Given the description of an element on the screen output the (x, y) to click on. 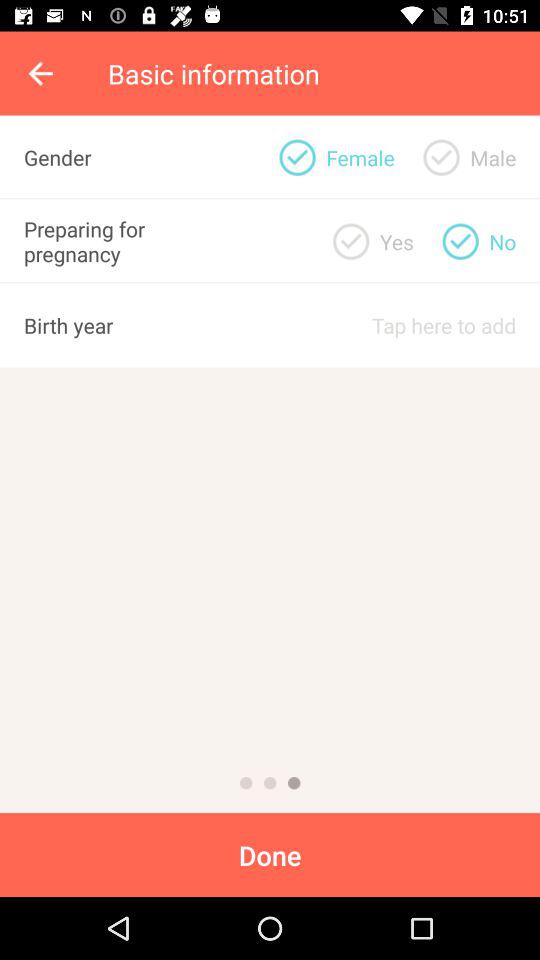
click female (297, 157)
